Given the description of an element on the screen output the (x, y) to click on. 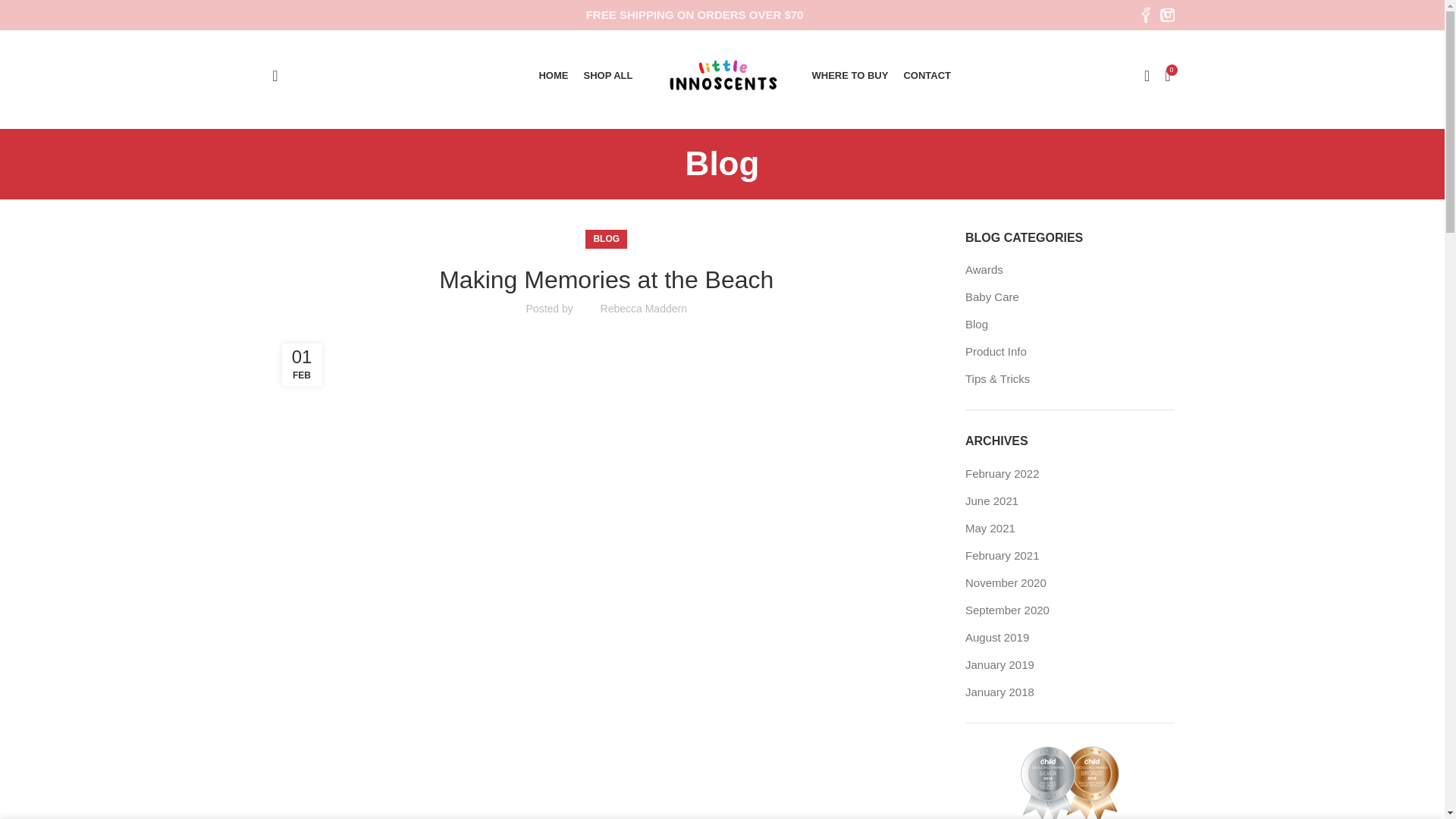
Facebook (1143, 14)
HOME (552, 75)
Instagram (1163, 14)
BLOG (606, 239)
Rebecca Maddern (643, 308)
SHOP ALL (607, 75)
CONTACT (926, 75)
WHERE TO BUY (849, 75)
